Given the description of an element on the screen output the (x, y) to click on. 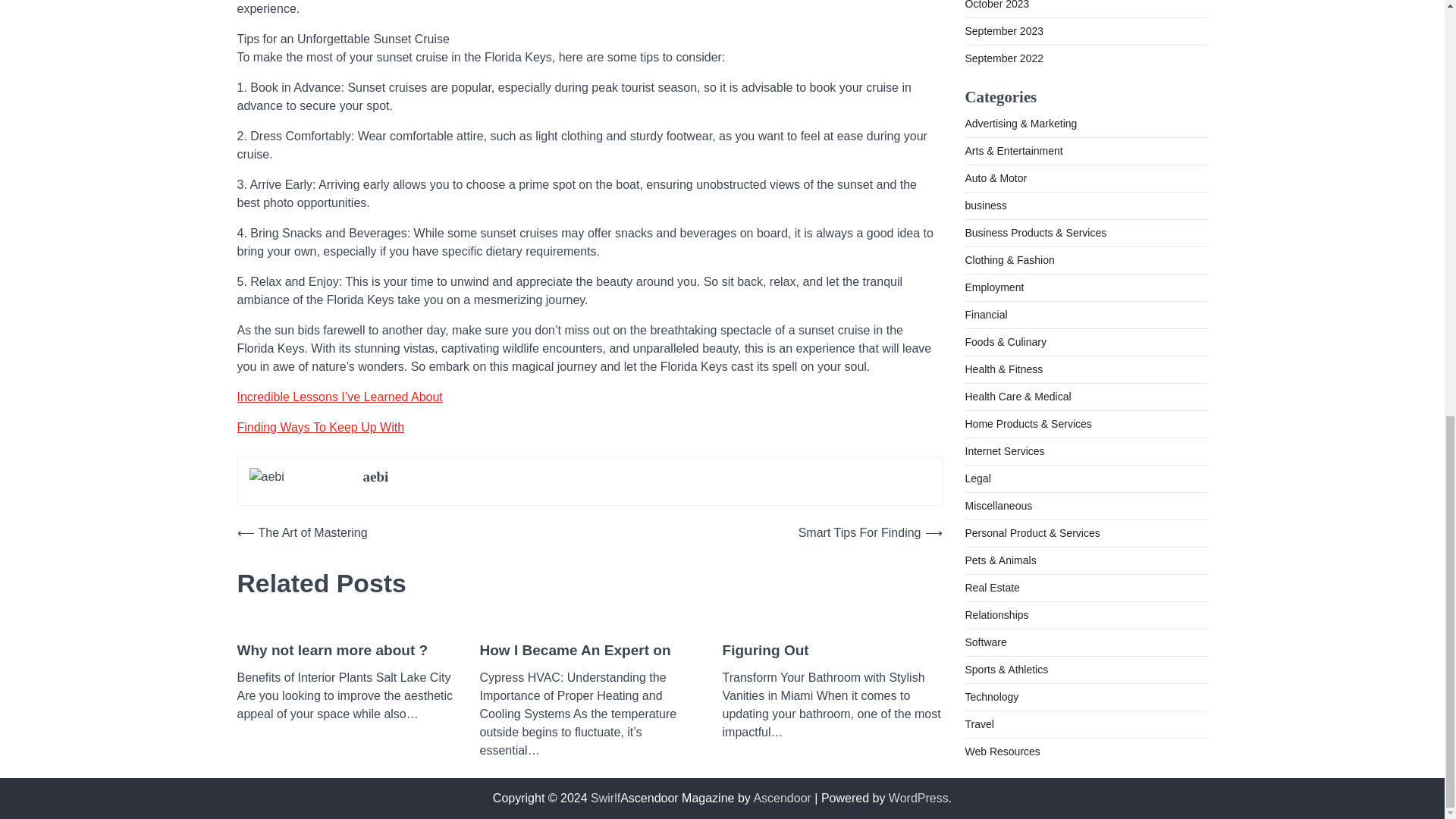
September 2022 (1003, 1)
Finding Ways To Keep Up With (319, 427)
business (984, 143)
Why not learn more about ? (331, 650)
Figuring Out (765, 650)
How I Became An Expert on (574, 650)
